Given the description of an element on the screen output the (x, y) to click on. 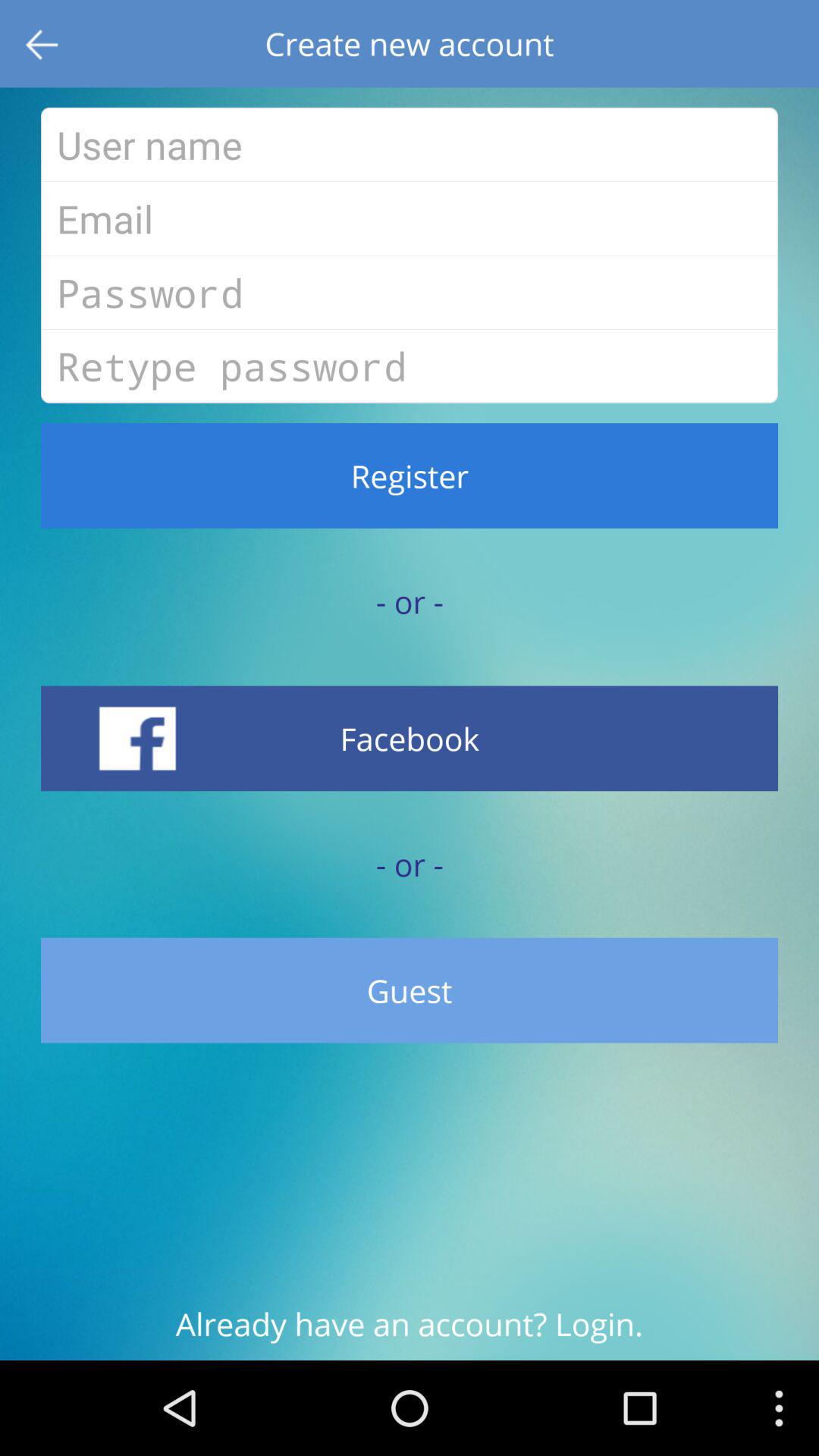
enter username (409, 144)
